Given the description of an element on the screen output the (x, y) to click on. 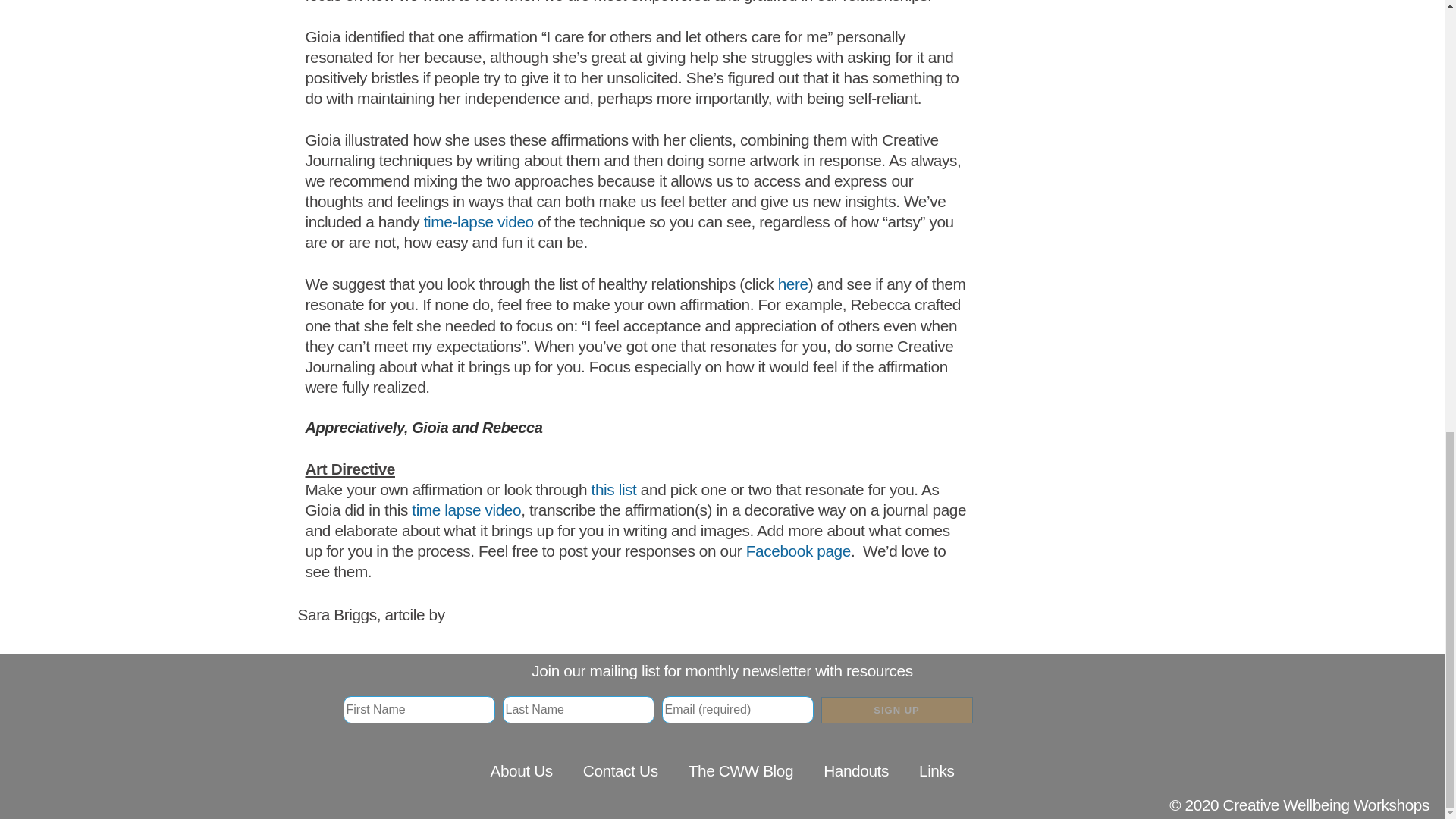
Sign up (896, 709)
